Given the description of an element on the screen output the (x, y) to click on. 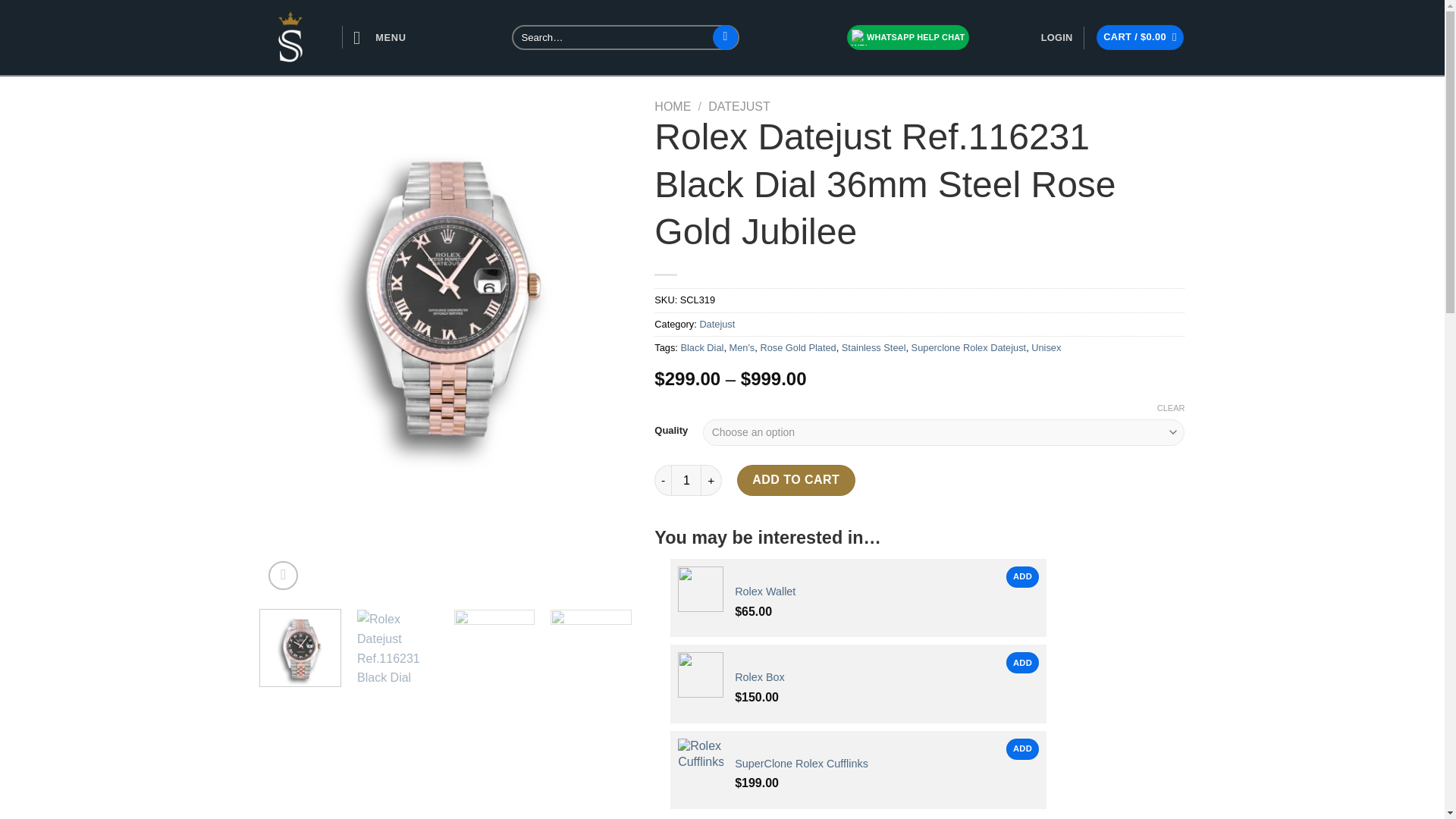
CLEAR (1171, 407)
WHATSAPP HELP CHAT (908, 37)
LOGIN (1057, 37)
Rolex Wallet (764, 599)
Datejust (716, 324)
Zoom (282, 575)
Rolex Box (759, 685)
SuperClone Rolex Cufflinks (801, 771)
Unisex (1045, 347)
Super Clone Rolex Watches (288, 37)
HOME (671, 106)
ADD (1022, 662)
Men's (742, 347)
- (662, 480)
Cart (1139, 37)
